Given the description of an element on the screen output the (x, y) to click on. 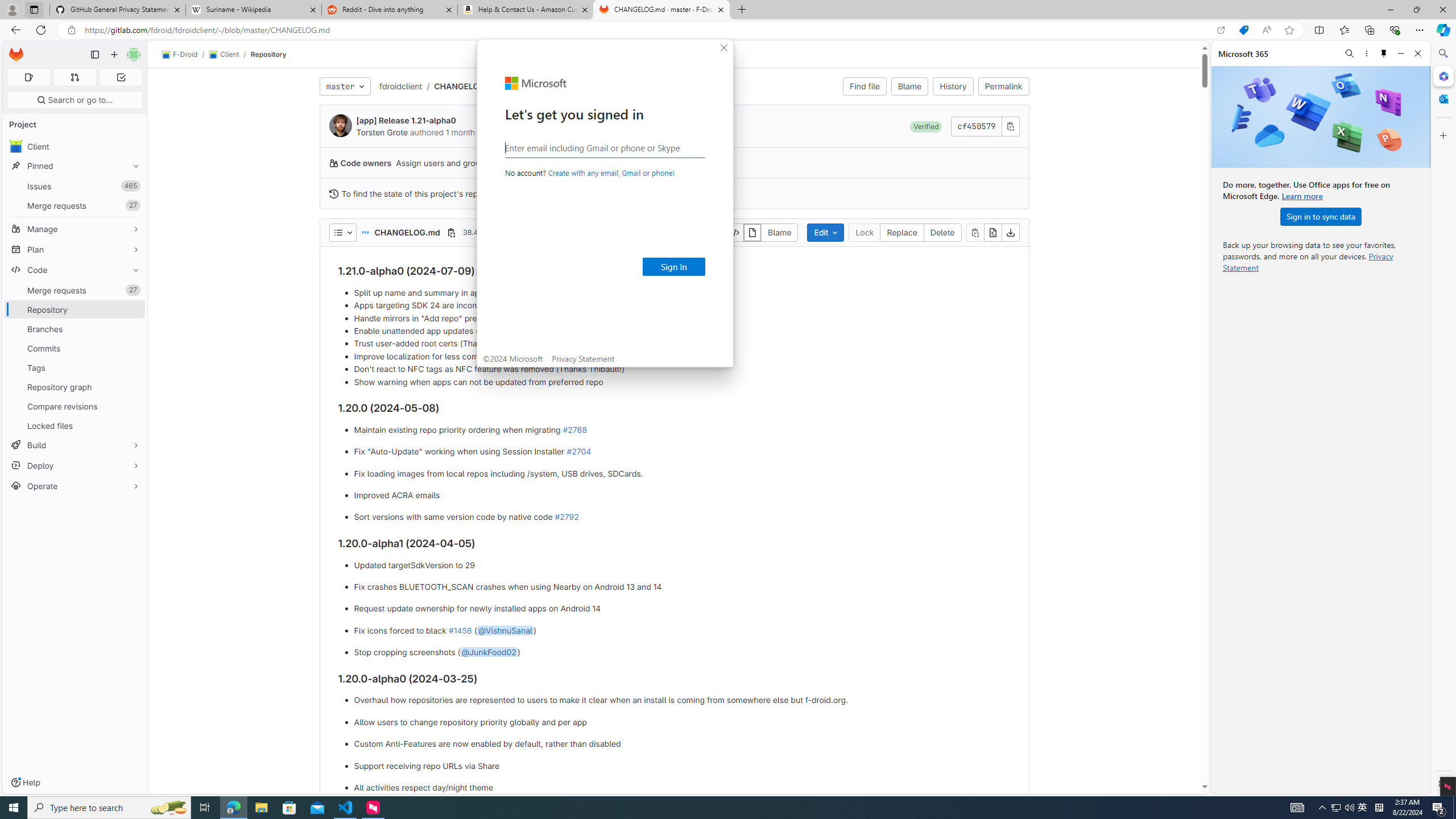
Updated targetSdkVersion to 29 (681, 564)
Sign in to sync data (1320, 216)
Start (13, 807)
#2704 (578, 451)
AutomationID: dropdown-toggle-btn-50 (342, 232)
Manage (74, 228)
Compare revisions (74, 406)
Create new... (1362, 807)
Delete (113, 54)
Branches (942, 232)
Torsten Grote (74, 328)
Lock (381, 131)
#2788 (864, 232)
